Given the description of an element on the screen output the (x, y) to click on. 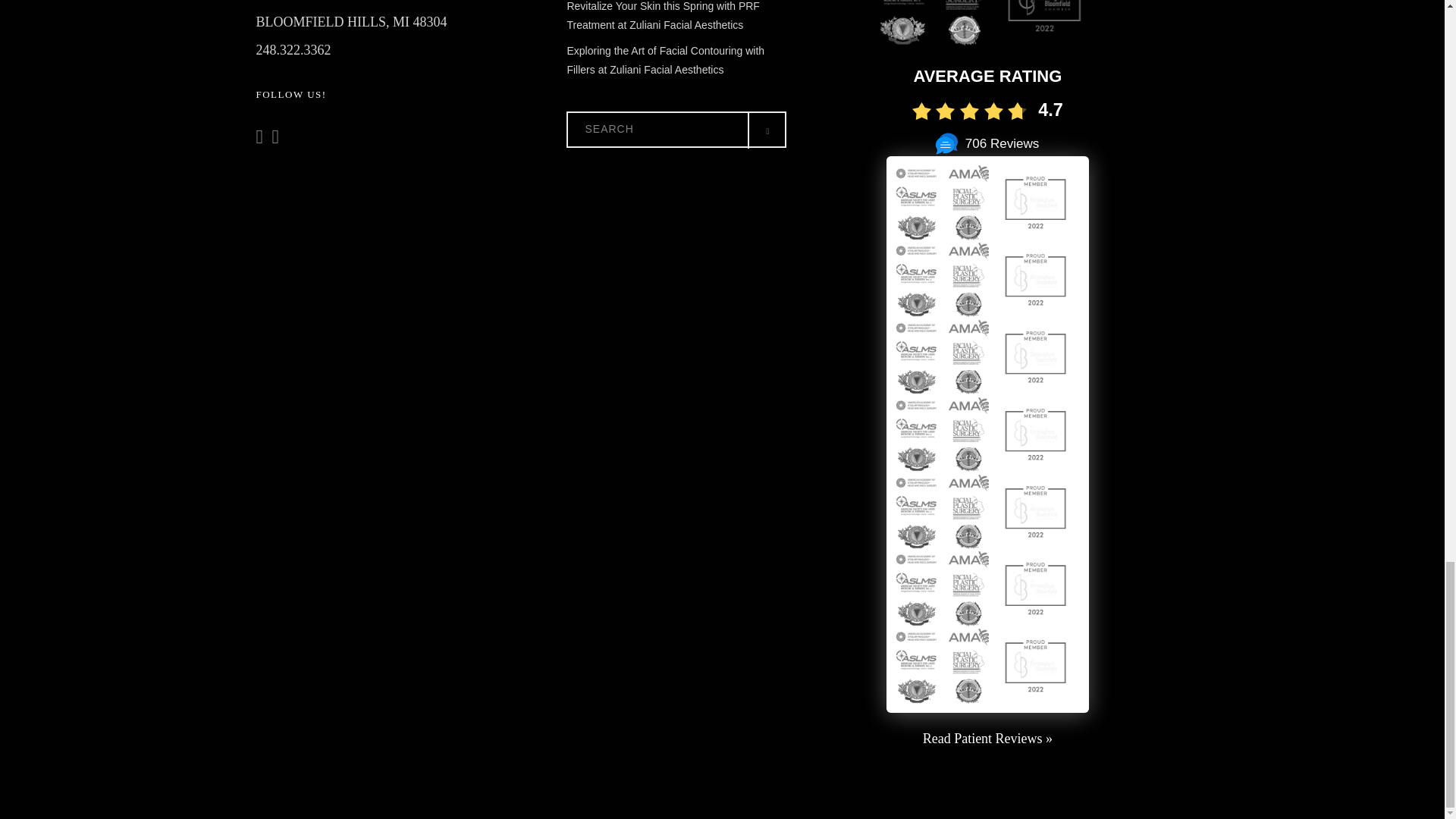
Submit (1270, 179)
